Given the description of an element on the screen output the (x, y) to click on. 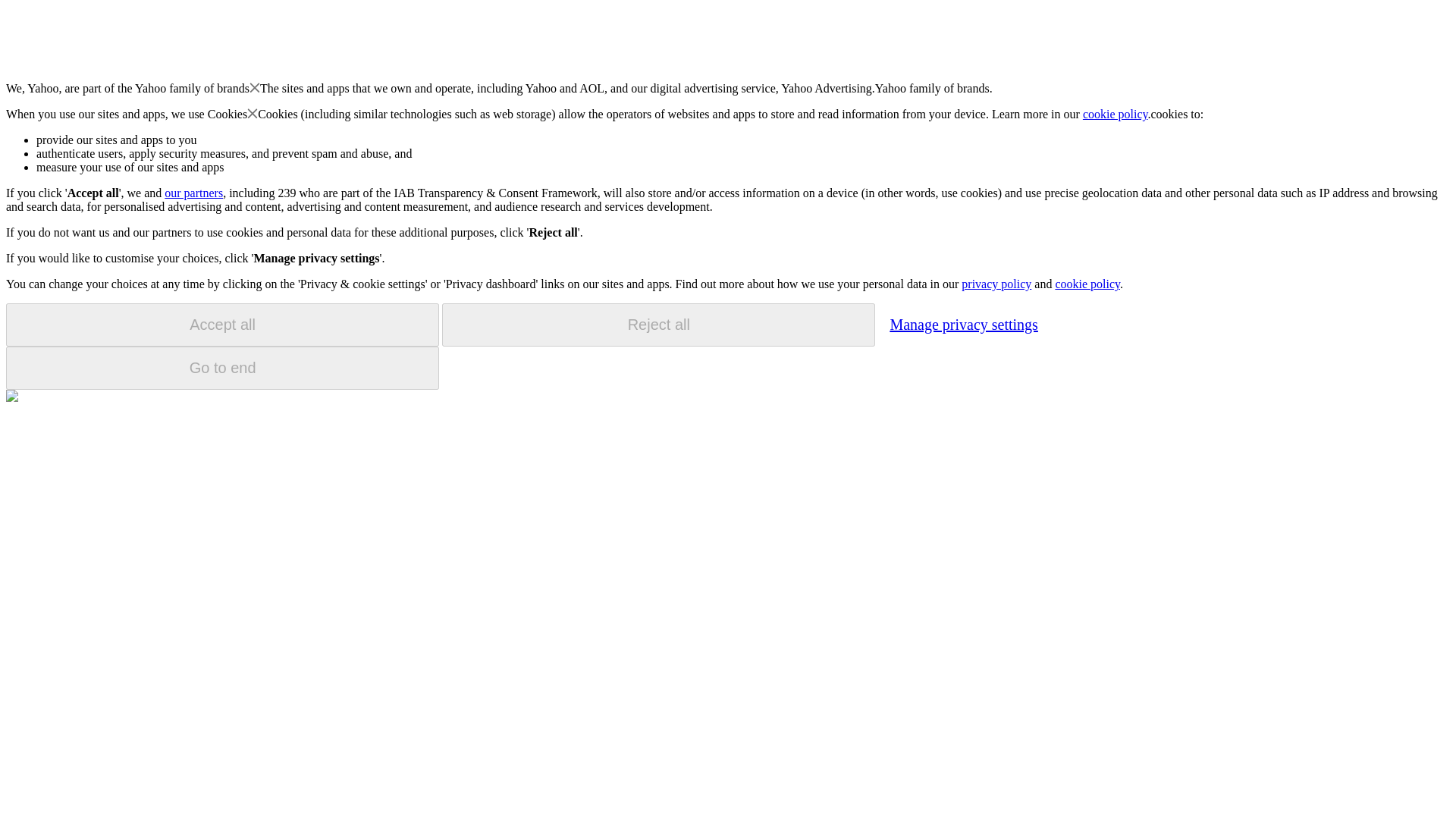
cookie policy (1086, 283)
Accept all (222, 324)
Reject all (658, 324)
our partners (193, 192)
cookie policy (1115, 113)
Go to end (222, 367)
Manage privacy settings (963, 323)
privacy policy (995, 283)
